Given the description of an element on the screen output the (x, y) to click on. 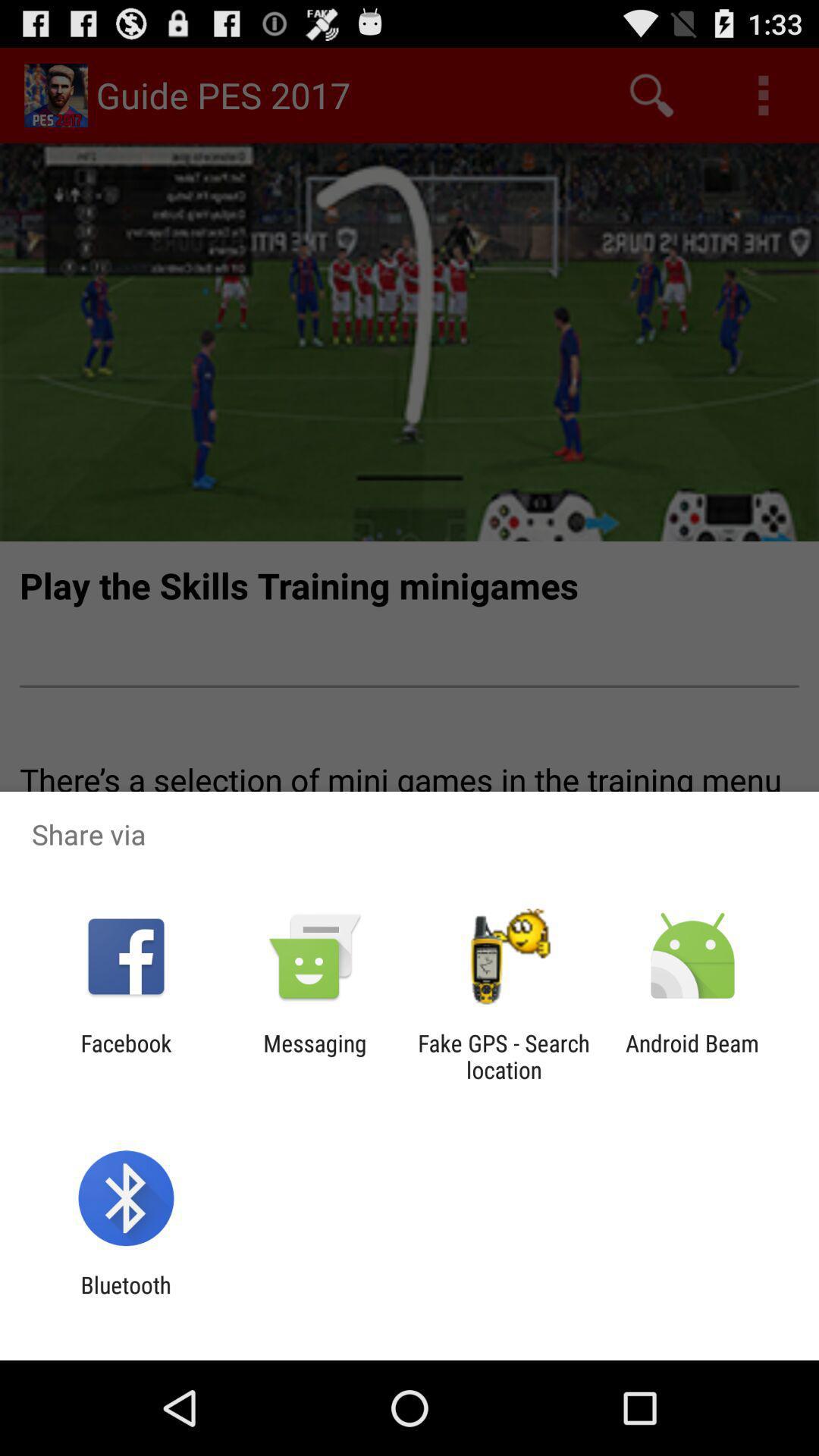
tap item next to the facebook item (314, 1056)
